Given the description of an element on the screen output the (x, y) to click on. 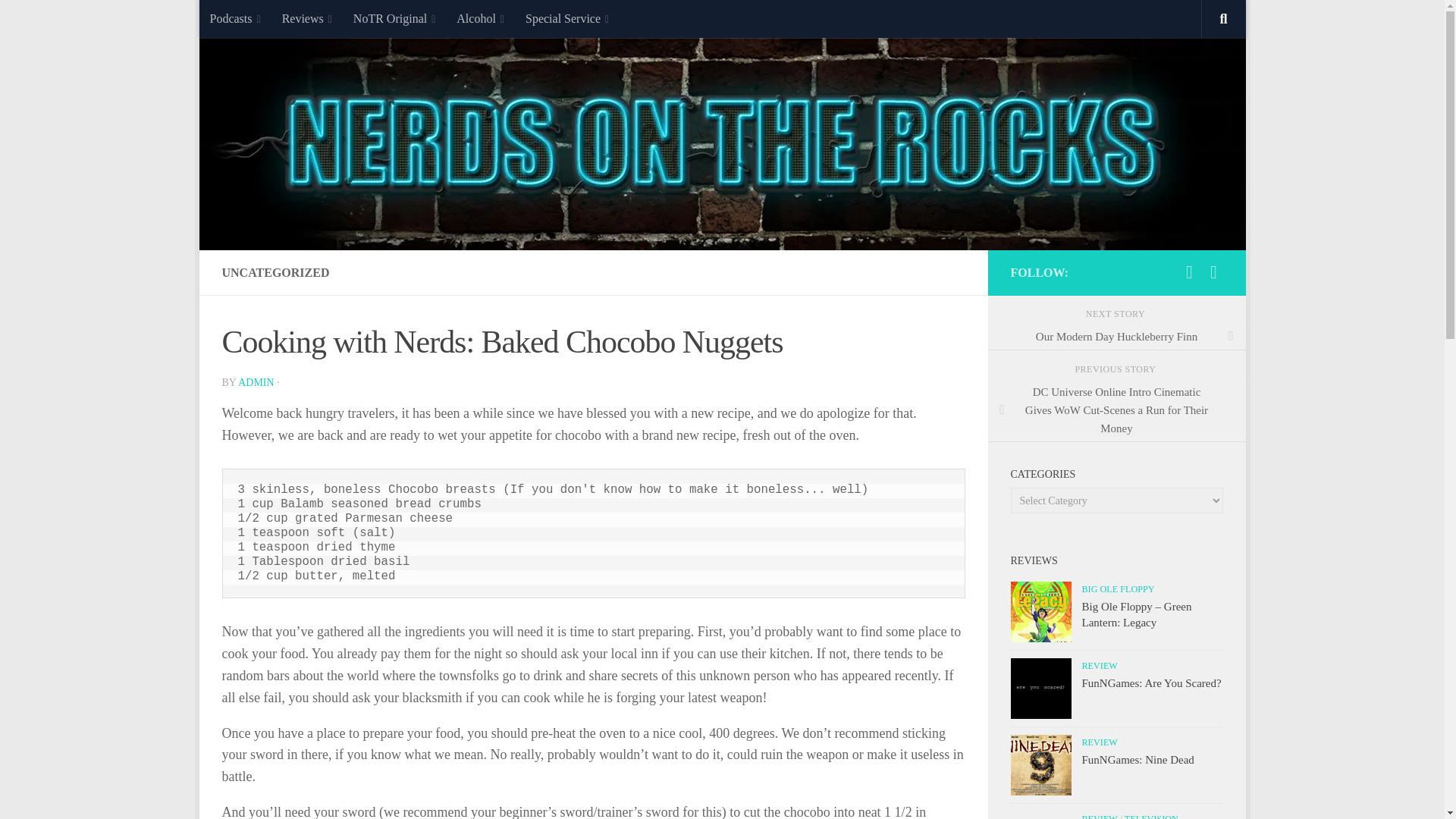
Posts by admin (255, 382)
Follow us on Twitter-square (1188, 271)
Skip to content (258, 20)
Follow us on Facebook-square (1213, 271)
